Given the description of an element on the screen output the (x, y) to click on. 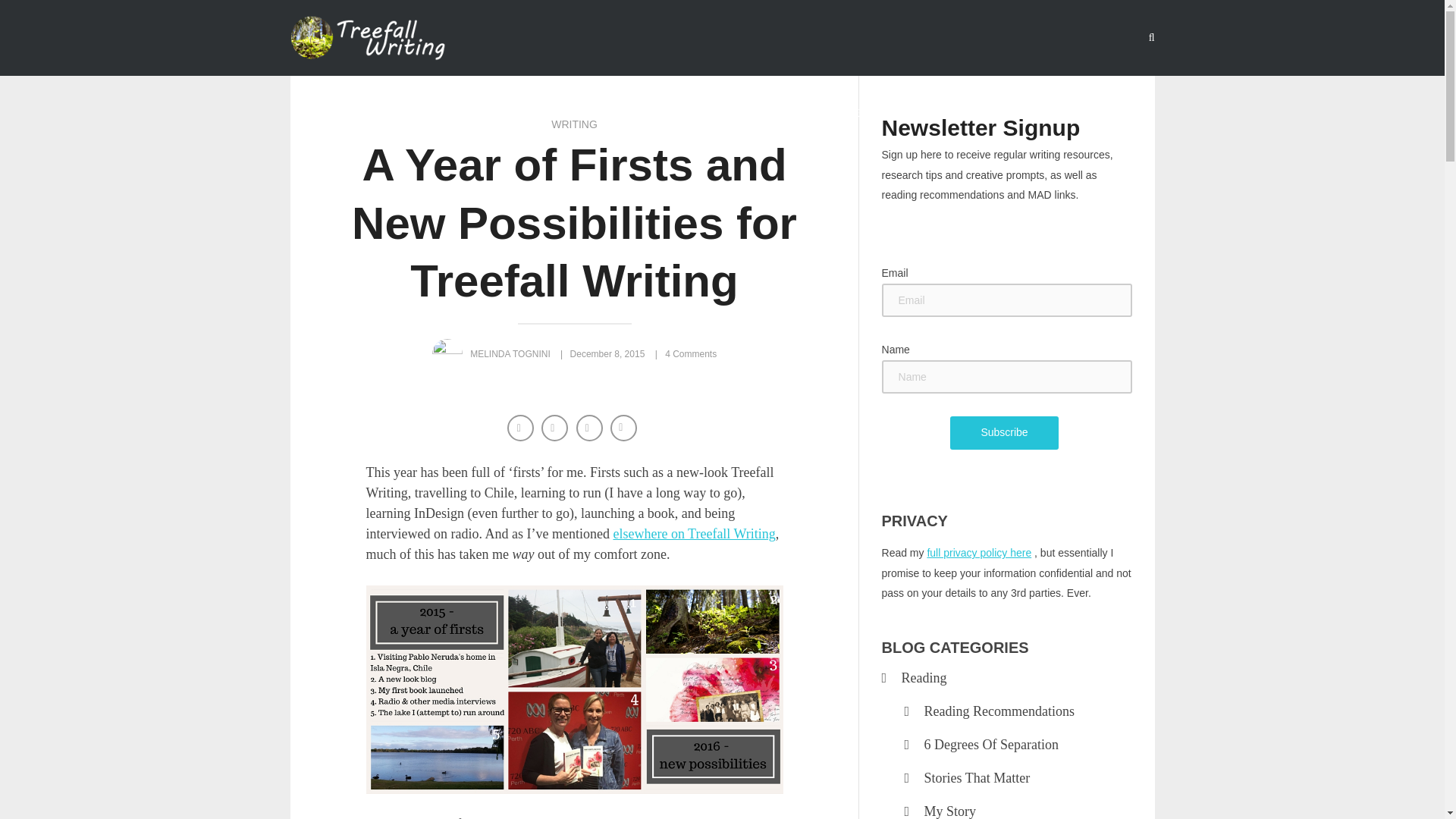
WORK WITH ME (973, 113)
Email (625, 429)
7:30 am (607, 353)
Pin this (591, 429)
YOUNG WRITERS: COMPETITIONS (813, 113)
MY BOOKS (664, 113)
Share on Twitter (556, 429)
Share on Facebook (521, 429)
